Given the description of an element on the screen output the (x, y) to click on. 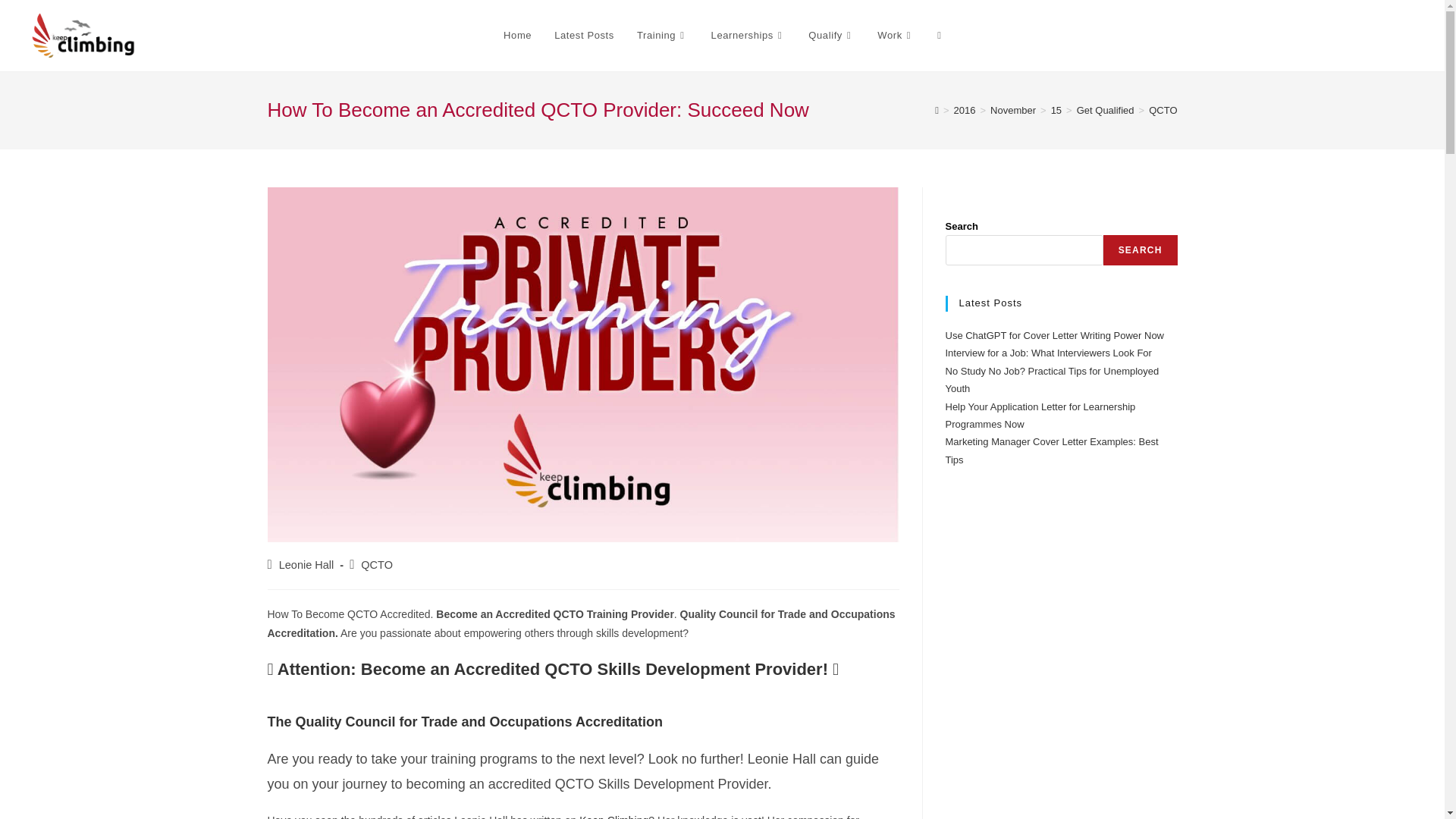
Work (896, 35)
Latest Posts (584, 35)
Learnerships (748, 35)
Training (663, 35)
Qualify (831, 35)
Posts by Leonie Hall (306, 564)
Home (517, 35)
